Given the description of an element on the screen output the (x, y) to click on. 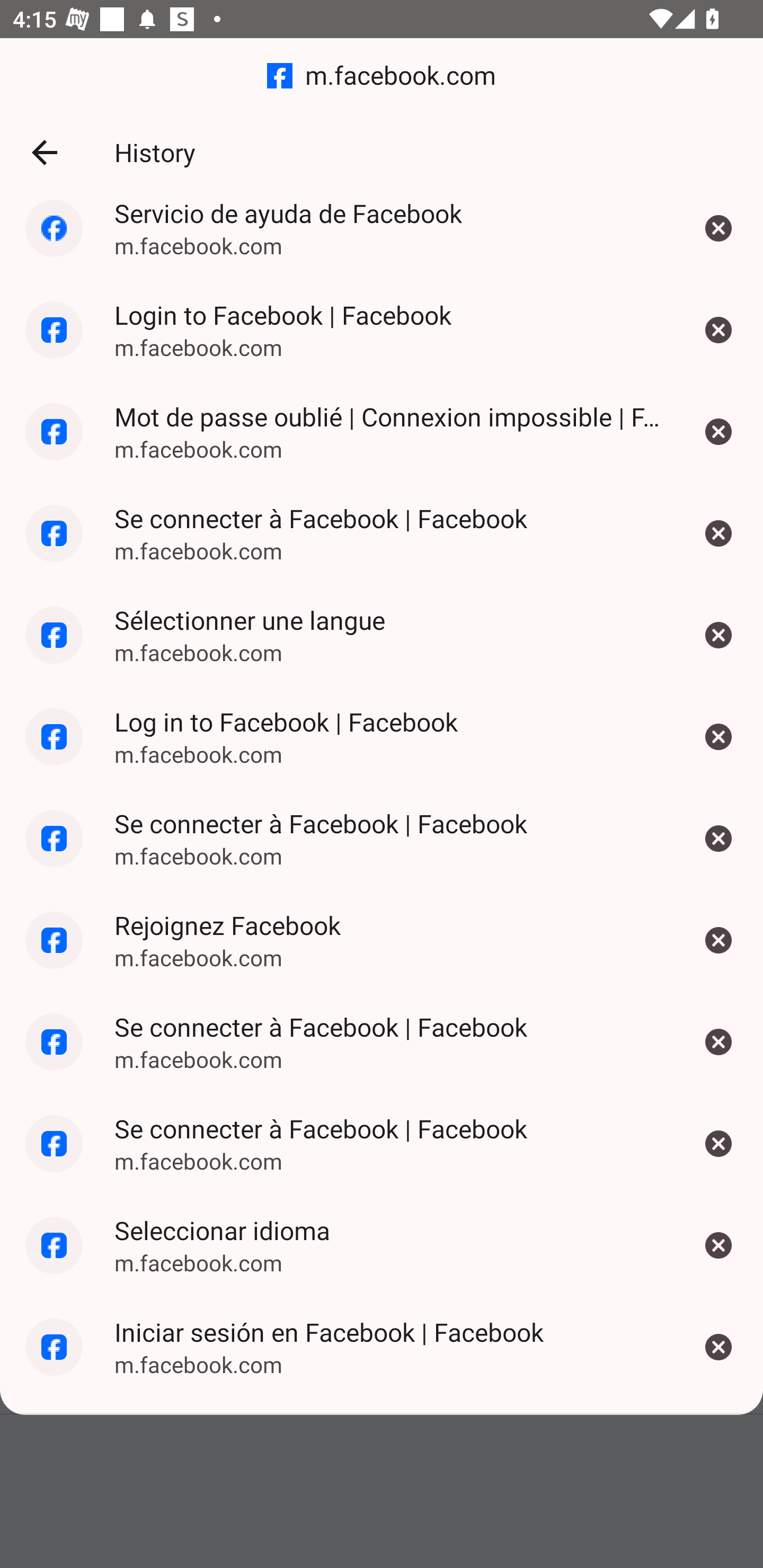
m.facebook.com (381, 75)
Back (44, 152)
Servicio de ayuda de Facebook Remove (718, 235)
Login to Facebook | Facebook Remove (718, 330)
Se connecter à Facebook | Facebook Remove (718, 533)
Sélectionner une langue Remove (718, 635)
Log in to Facebook | Facebook Remove (718, 736)
Se connecter à Facebook | Facebook Remove (718, 838)
Rejoignez Facebook Remove (718, 939)
Se connecter à Facebook | Facebook Remove (718, 1041)
Se connecter à Facebook | Facebook Remove (718, 1143)
Seleccionar idioma Remove (718, 1245)
Iniciar sesión en Facebook | Facebook Remove (718, 1347)
